Given the description of an element on the screen output the (x, y) to click on. 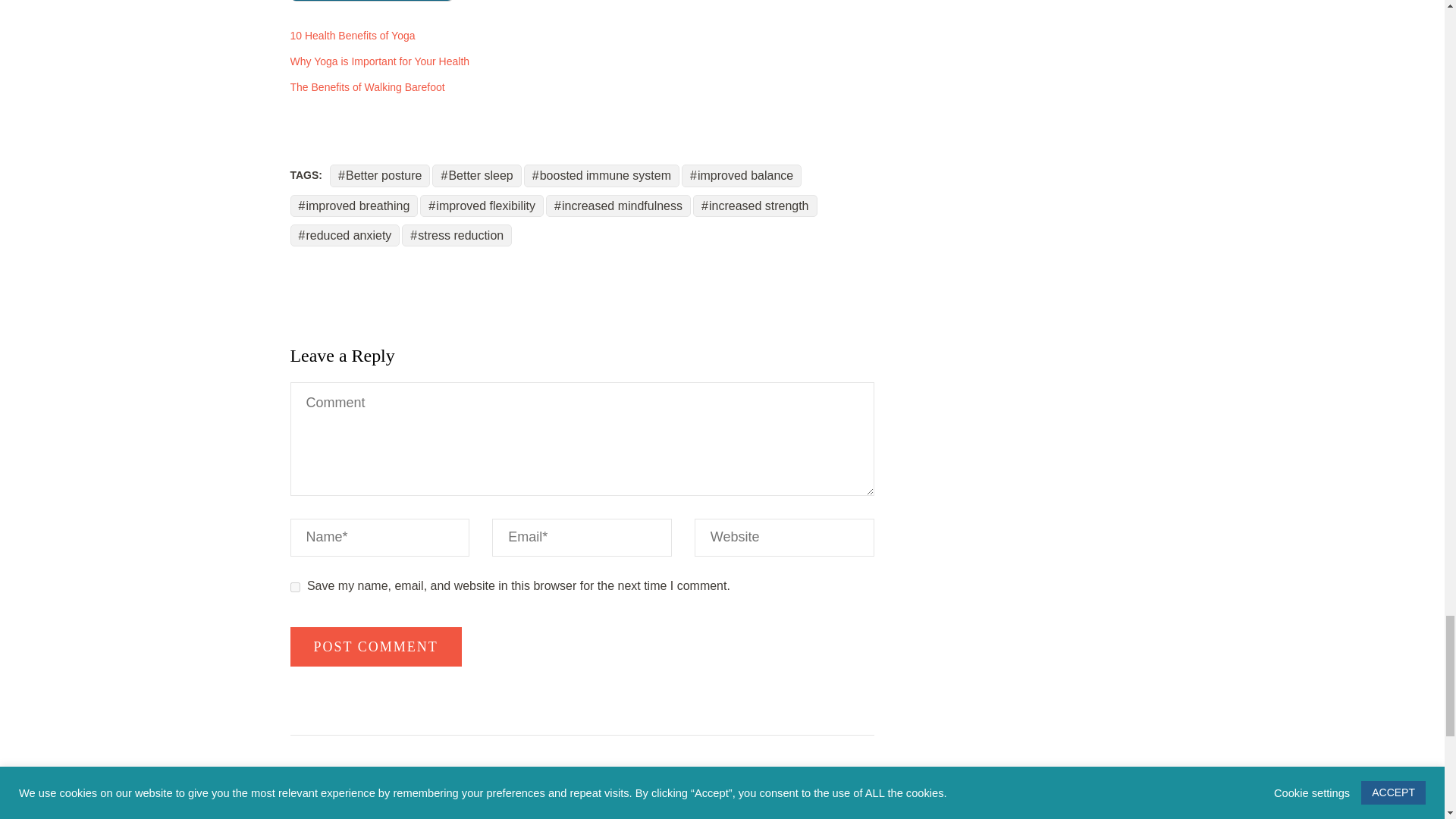
10 Health Benefits of Yoga (351, 35)
Why Yoga is Important for Your Health (378, 61)
Post Comment (375, 646)
The Benefits of Walking Barefoot (366, 87)
yes (294, 587)
